Given the description of an element on the screen output the (x, y) to click on. 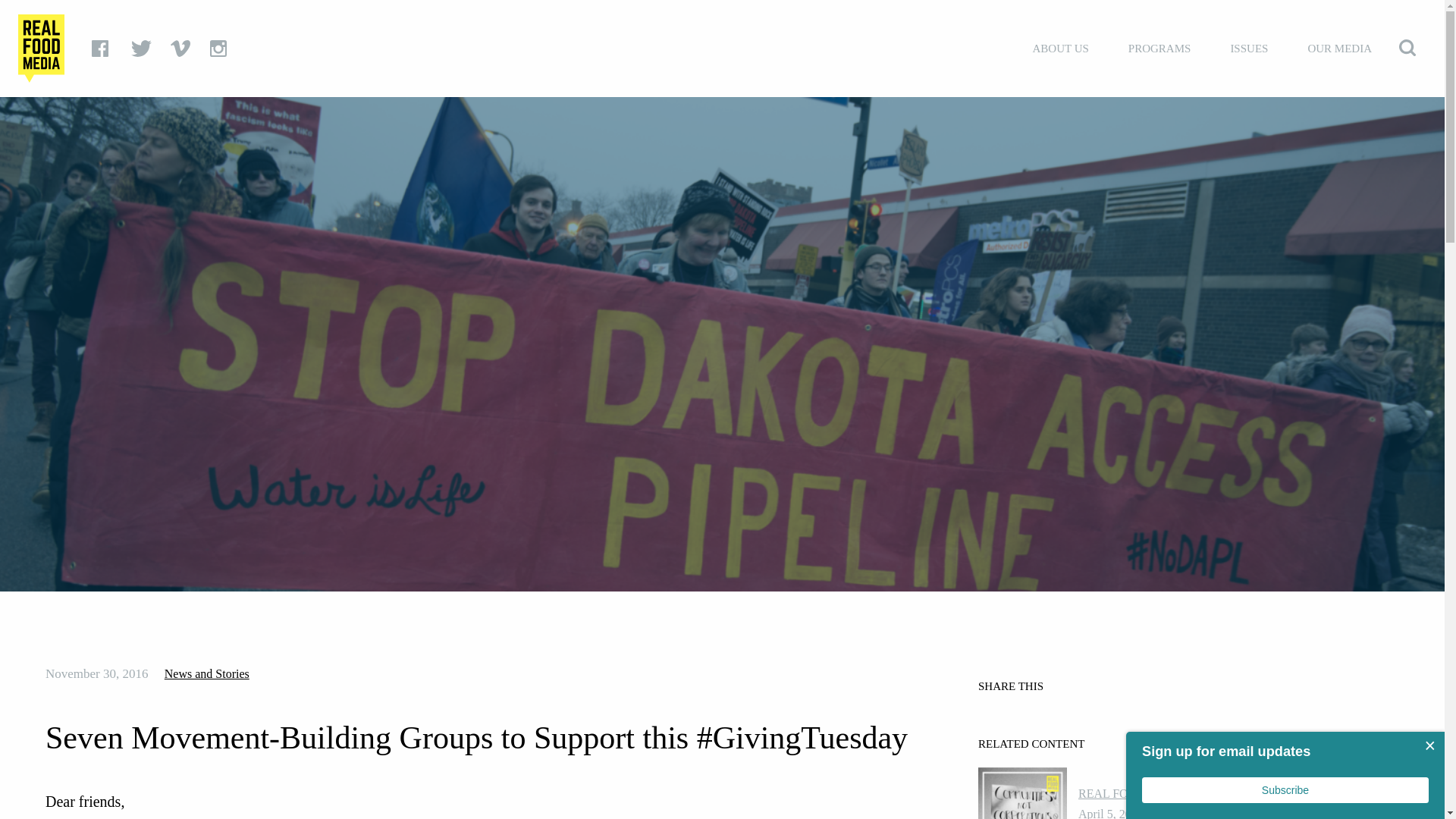
ISSUES (1248, 48)
home (41, 47)
vimeo (182, 48)
facebook (103, 48)
OUR MEDIA (1339, 48)
twitter (143, 48)
SEARCH (1411, 47)
ABOUT US (1060, 48)
PROGRAMS (1160, 48)
instagram (221, 48)
